Given the description of an element on the screen output the (x, y) to click on. 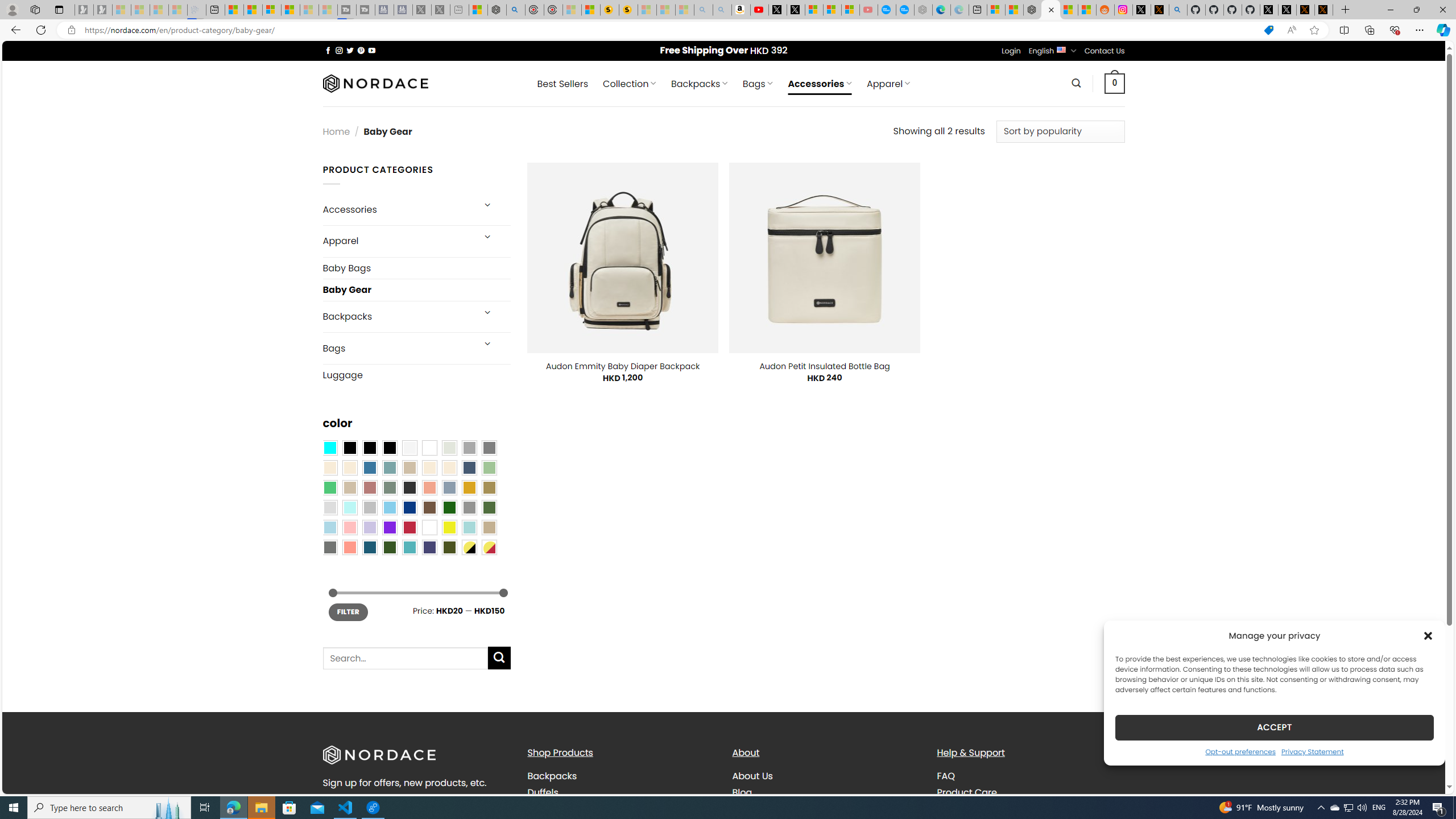
Audon Emmity Baby Diaper Backpack (623, 365)
Gray (468, 507)
Opinion: Op-Ed and Commentary - USA TODAY (887, 9)
Pink (349, 527)
Blog (742, 792)
Login (1010, 50)
Hale Navy (468, 467)
Microsoft Start - Sleeping (309, 9)
  Best Sellers (562, 83)
